Given the description of an element on the screen output the (x, y) to click on. 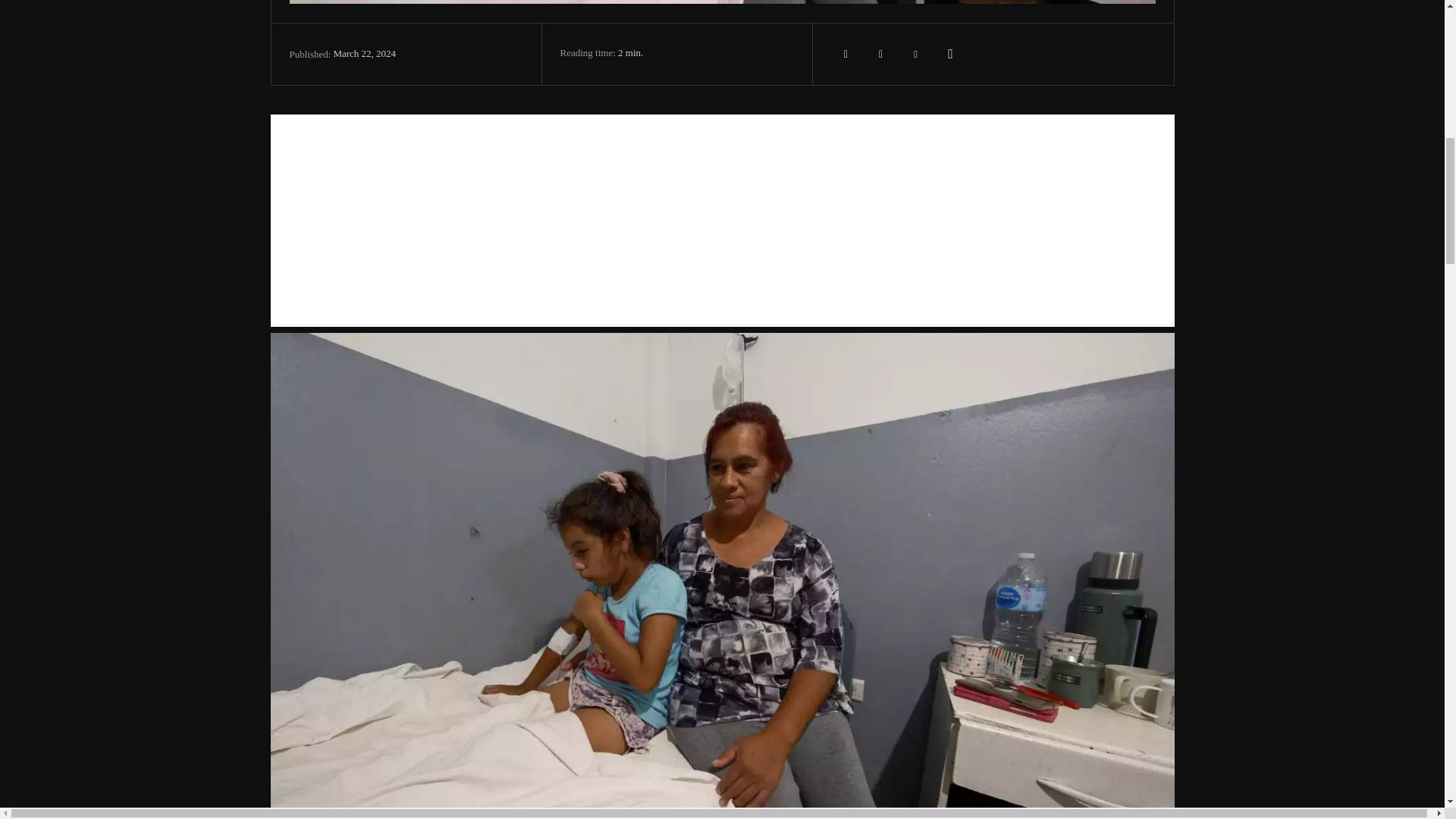
Facebook (846, 53)
